Given the description of an element on the screen output the (x, y) to click on. 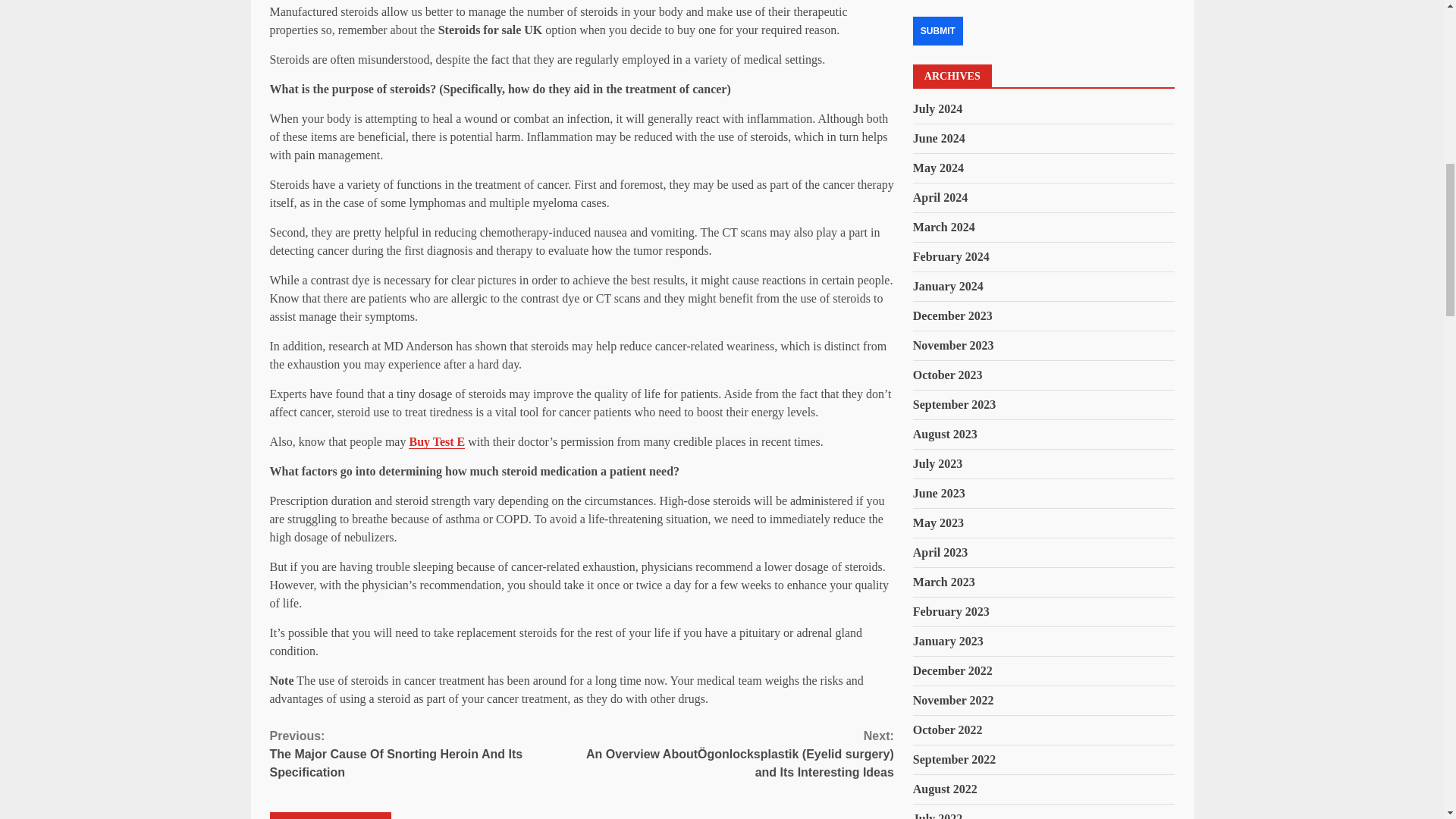
July 2024 (937, 108)
March 2024 (943, 226)
June 2024 (938, 137)
Submit (937, 30)
Submit (937, 30)
May 2024 (937, 167)
Buy Test E (436, 441)
April 2024 (940, 196)
